Given the description of an element on the screen output the (x, y) to click on. 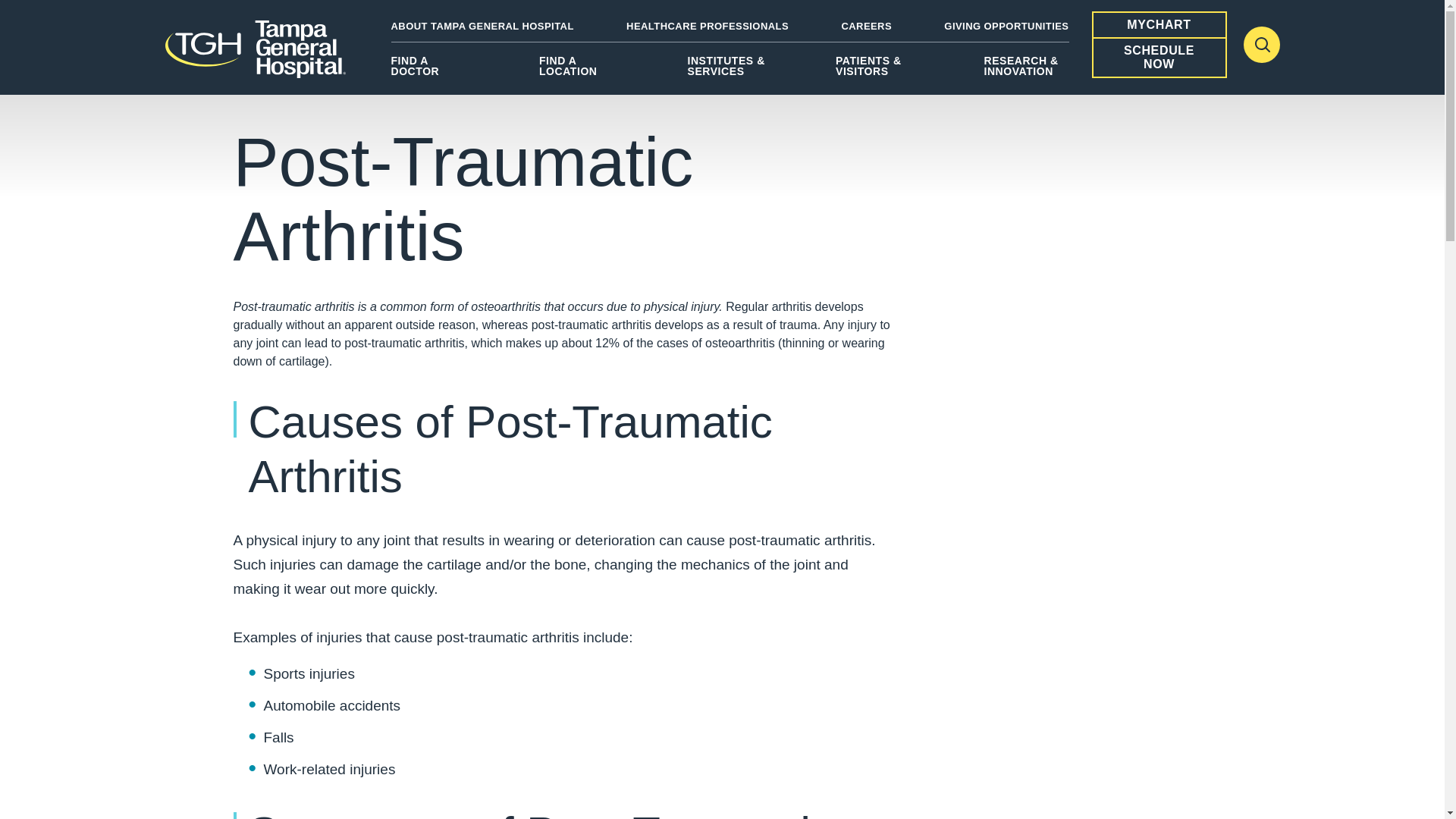
CAREERS (866, 25)
SCHEDULE NOW (1159, 57)
GIVING OPPORTUNITIES (1005, 25)
FIND A LOCATION (581, 71)
HEALTHCARE PROFESSIONALS (707, 25)
MYCHART (1159, 24)
FIND A DOCTOR (433, 71)
Toggle Main Search (1261, 44)
ABOUT TAMPA GENERAL HOSPITAL (482, 25)
